Given the description of an element on the screen output the (x, y) to click on. 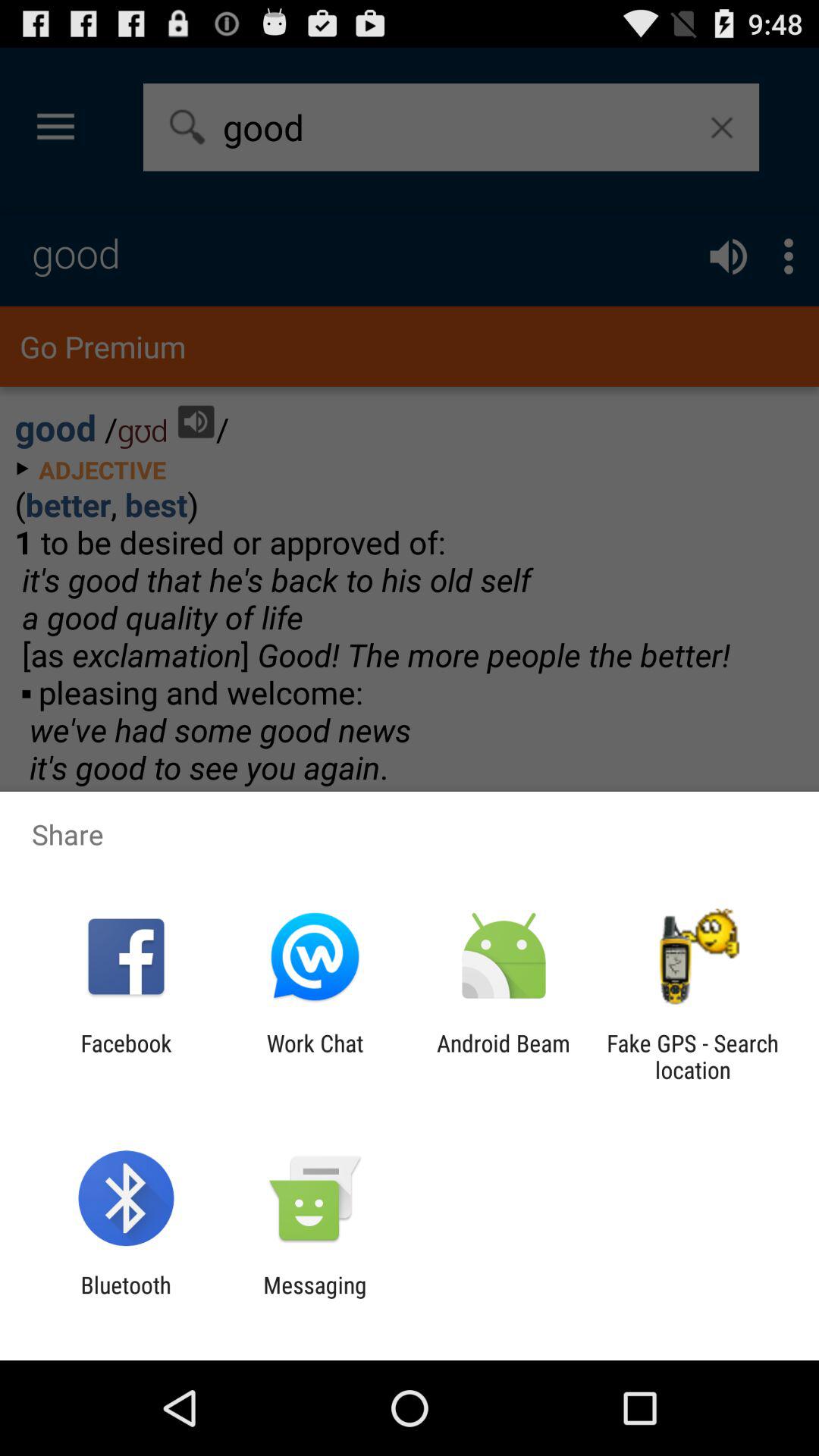
select item next to the work chat app (125, 1056)
